Given the description of an element on the screen output the (x, y) to click on. 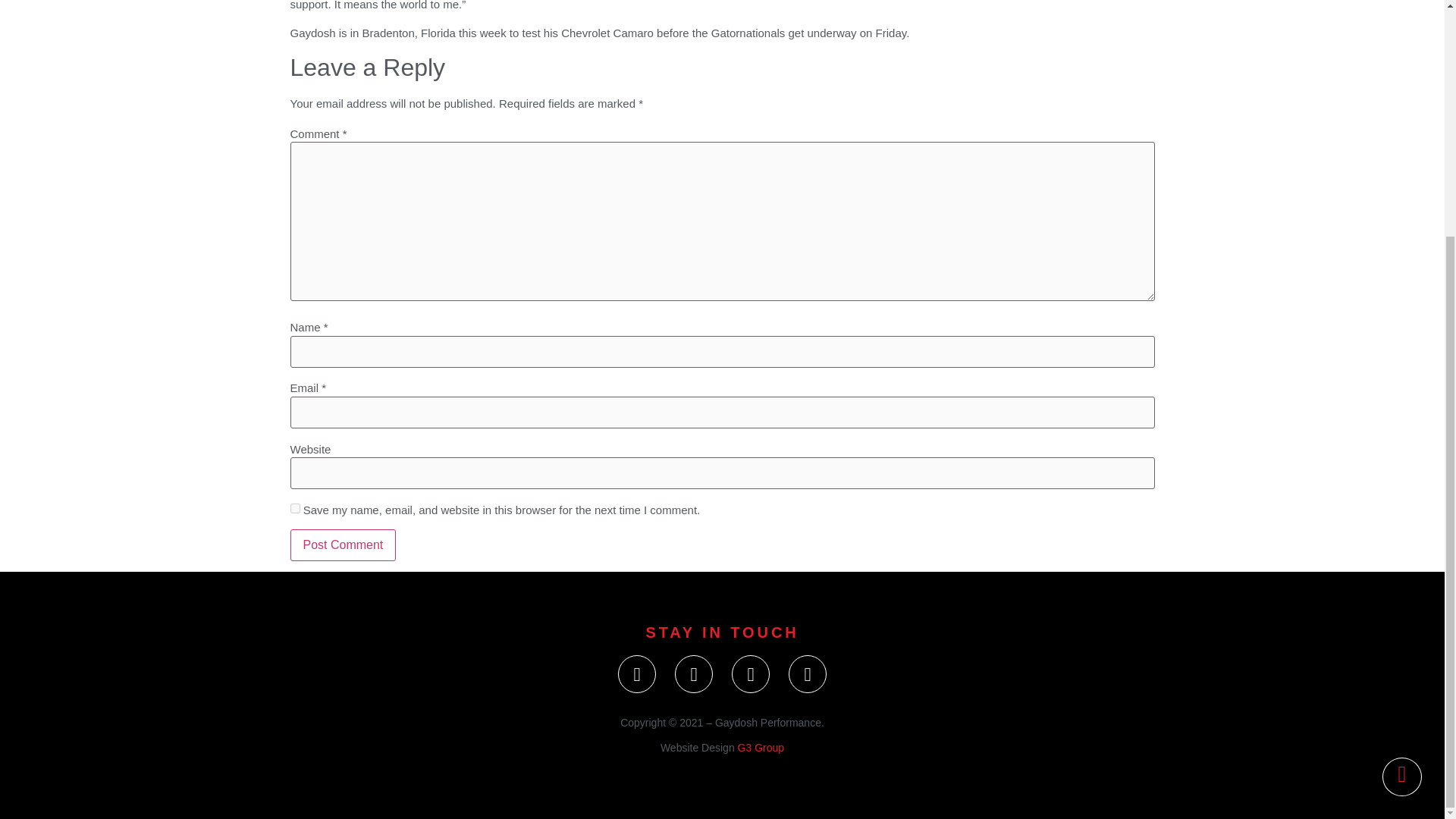
Post Comment (342, 545)
yes (294, 508)
Post Comment (342, 545)
G3 Group (761, 747)
